Given the description of an element on the screen output the (x, y) to click on. 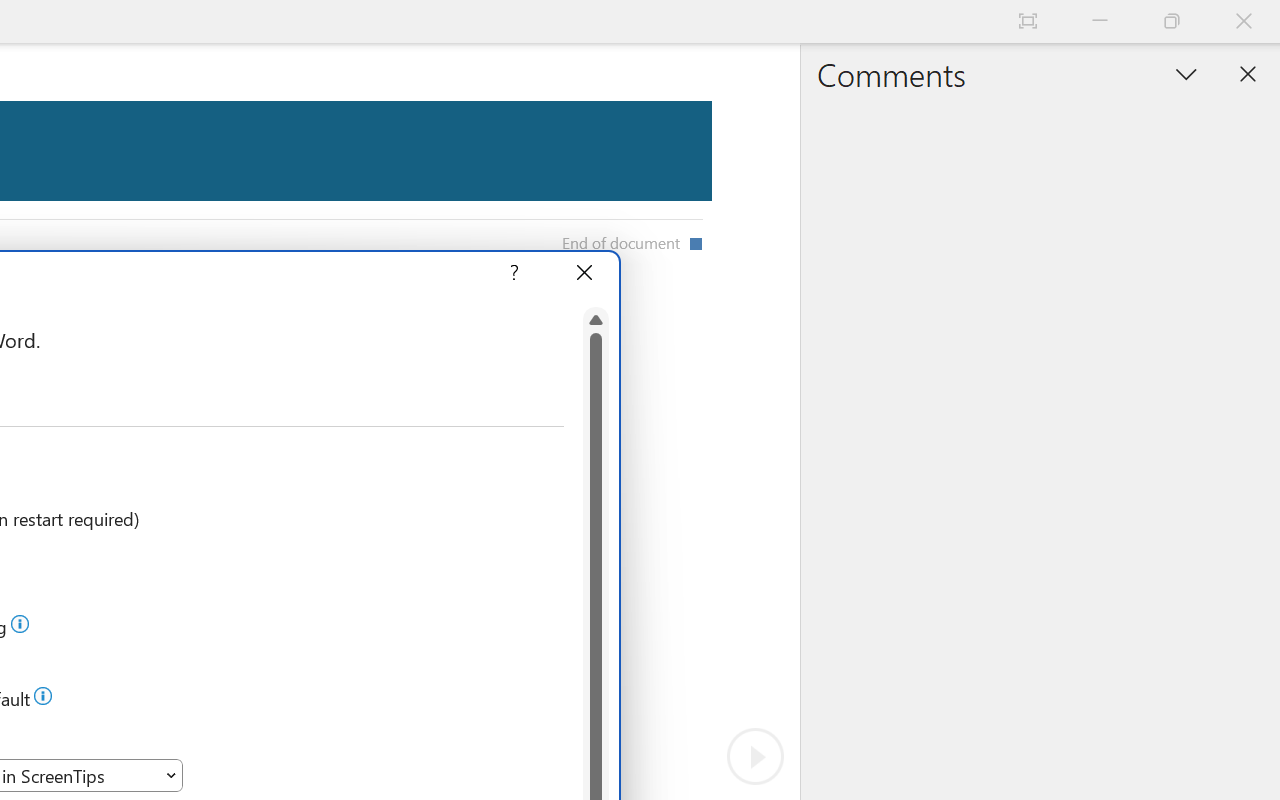
Line up (595, 319)
Auto-hide Reading Toolbar (1027, 21)
